Given the description of an element on the screen output the (x, y) to click on. 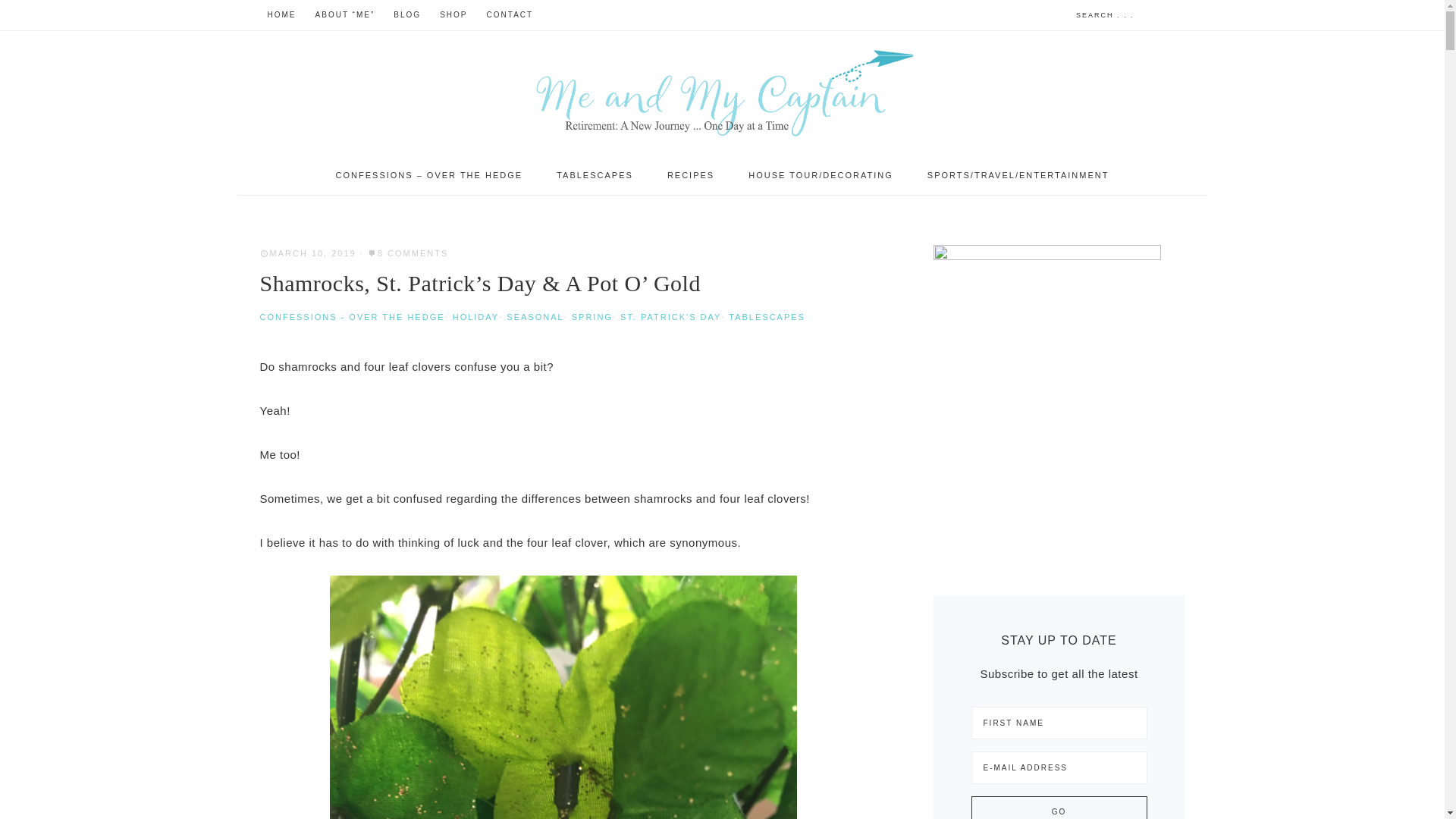
BLOG (406, 15)
HOME (280, 15)
ME AND MY CAPTAIN (722, 93)
CONTACT (510, 15)
Go (1059, 807)
SHOP (453, 15)
TABLESCAPES (594, 175)
